Given the description of an element on the screen output the (x, y) to click on. 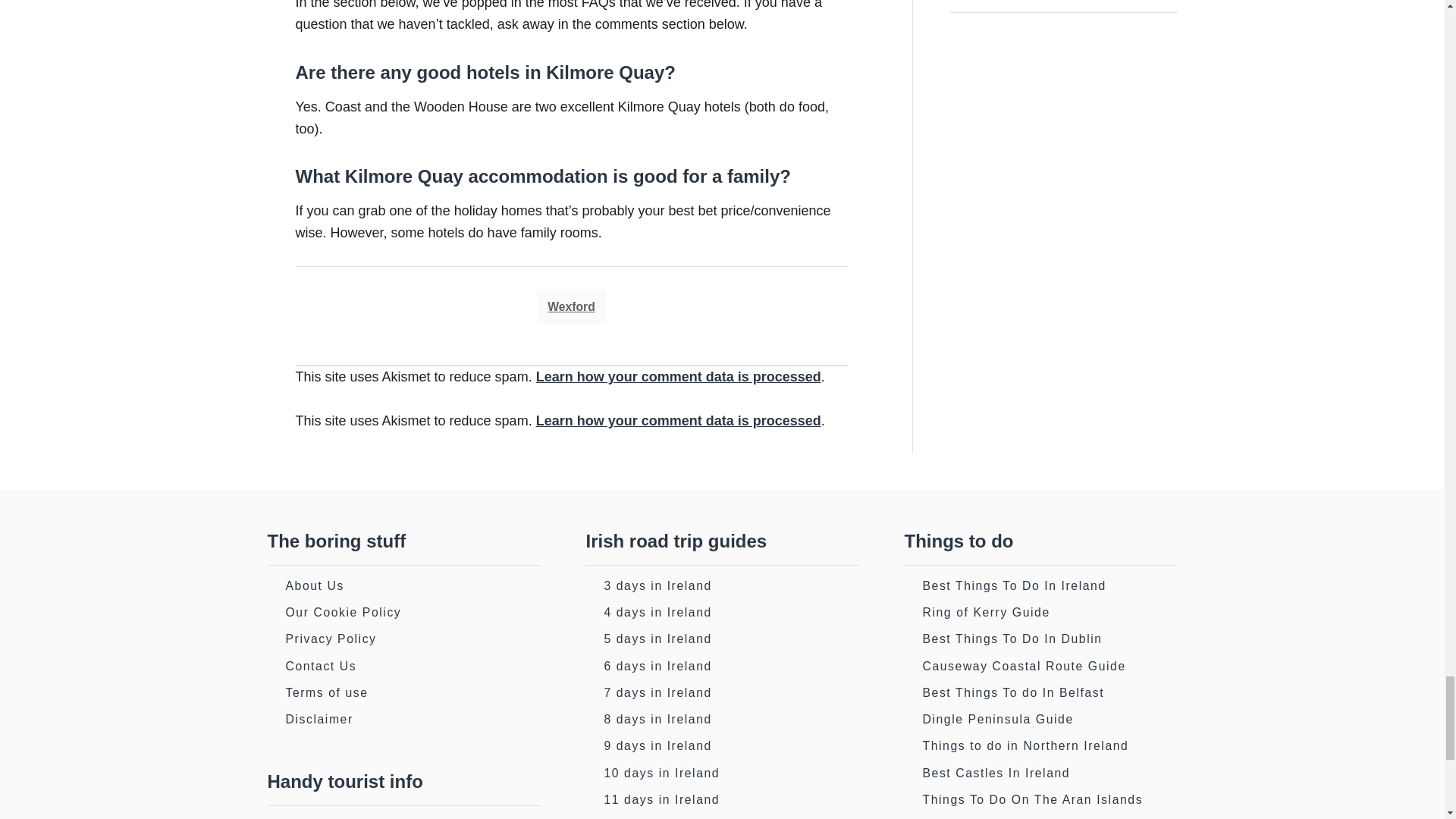
Wexford (571, 306)
Learn how your comment data is processed (678, 420)
Learn how your comment data is processed (678, 376)
